Given the description of an element on the screen output the (x, y) to click on. 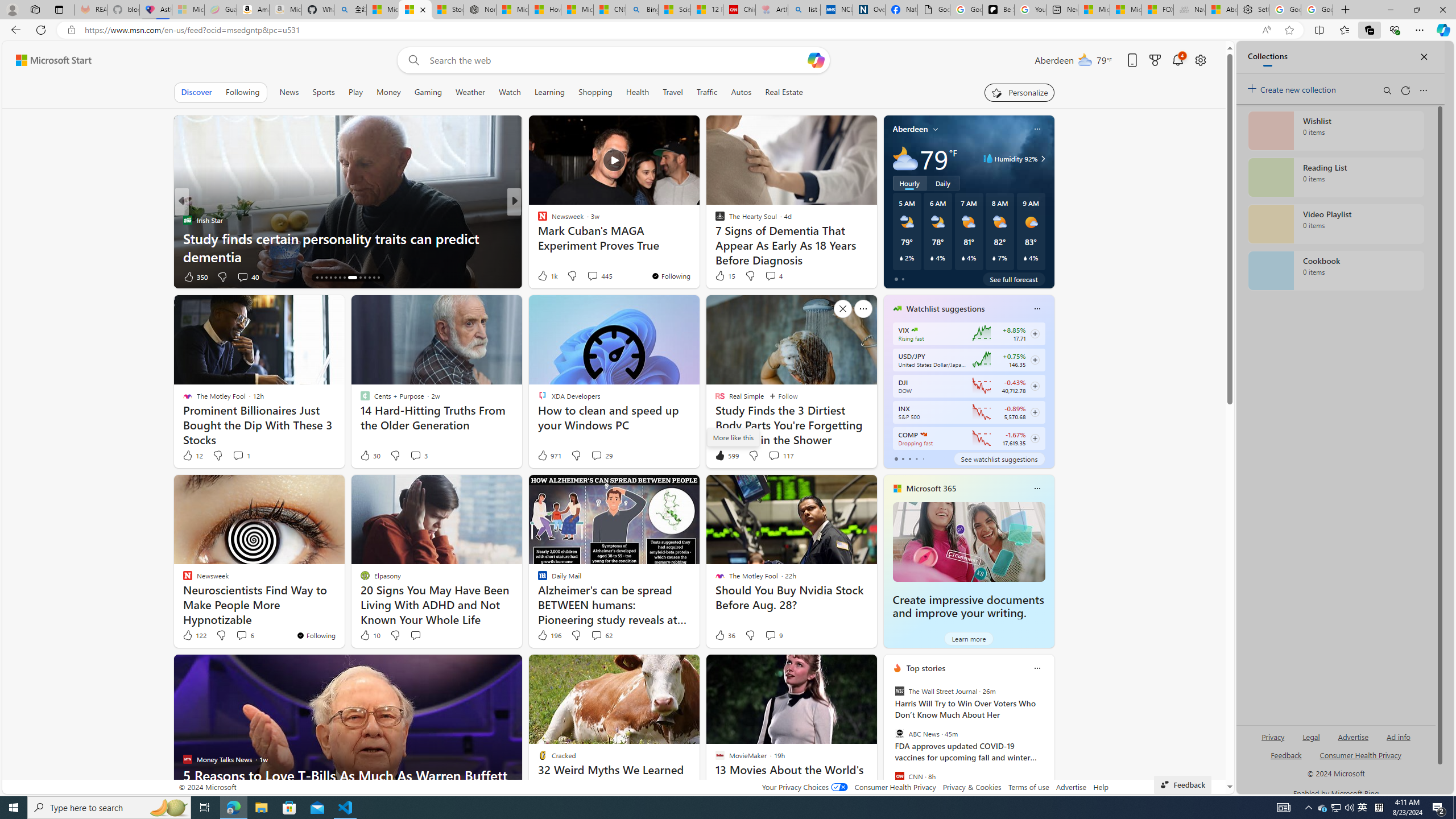
The Wall Street Journal (898, 691)
The Motley Fool (537, 219)
CNN - MSN (609, 9)
Class: follow-button  m (1034, 438)
View comments 117 Comment (773, 455)
36 Like (724, 634)
